Given the description of an element on the screen output the (x, y) to click on. 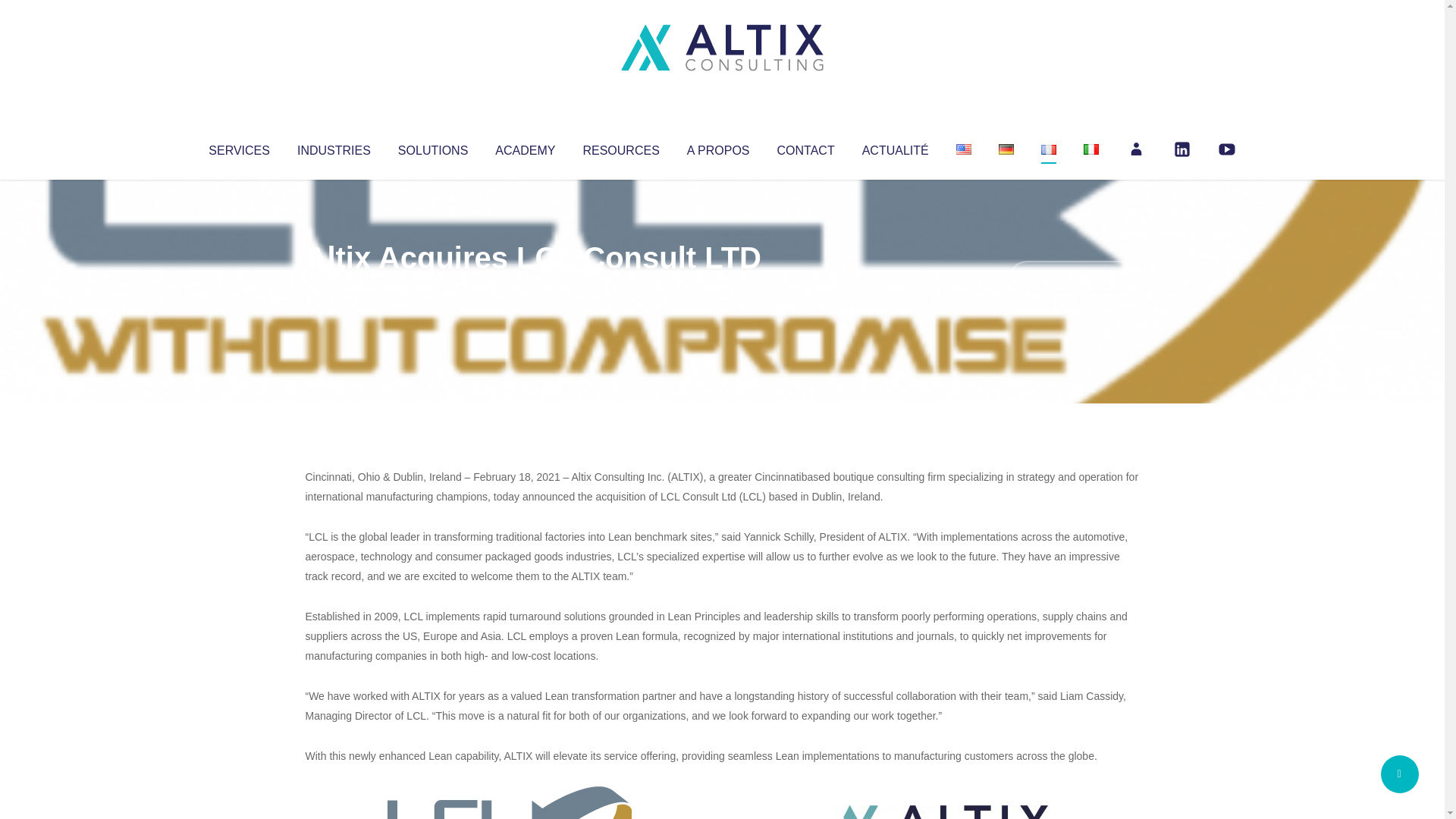
No Comments (1073, 278)
SERVICES (238, 146)
RESOURCES (620, 146)
A PROPOS (718, 146)
Uncategorized (530, 287)
ACADEMY (524, 146)
INDUSTRIES (334, 146)
Altix (333, 287)
Articles par Altix (333, 287)
SOLUTIONS (432, 146)
